Given the description of an element on the screen output the (x, y) to click on. 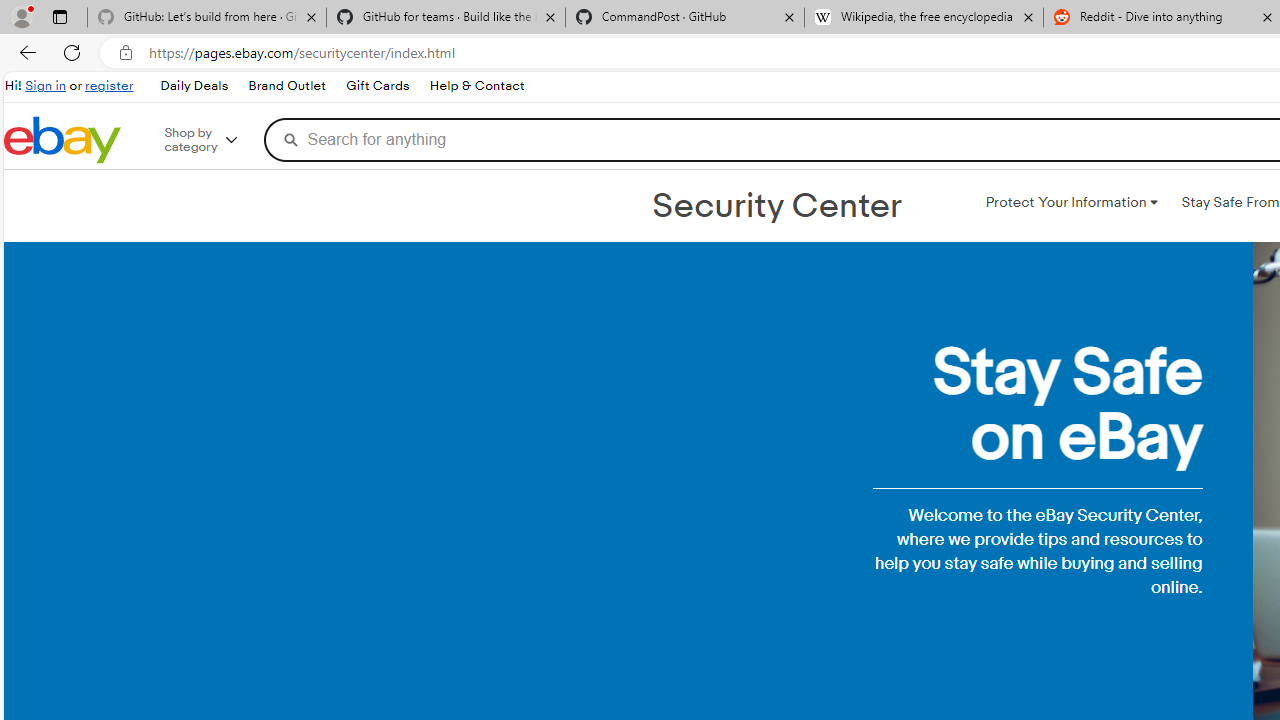
Brand Outlet (287, 86)
Shop by category (213, 140)
Daily Deals (193, 85)
Protect Your Information  (1071, 202)
eBay Home (62, 139)
Security Center (776, 206)
eBay Home (62, 139)
Gift Cards (377, 86)
